Given the description of an element on the screen output the (x, y) to click on. 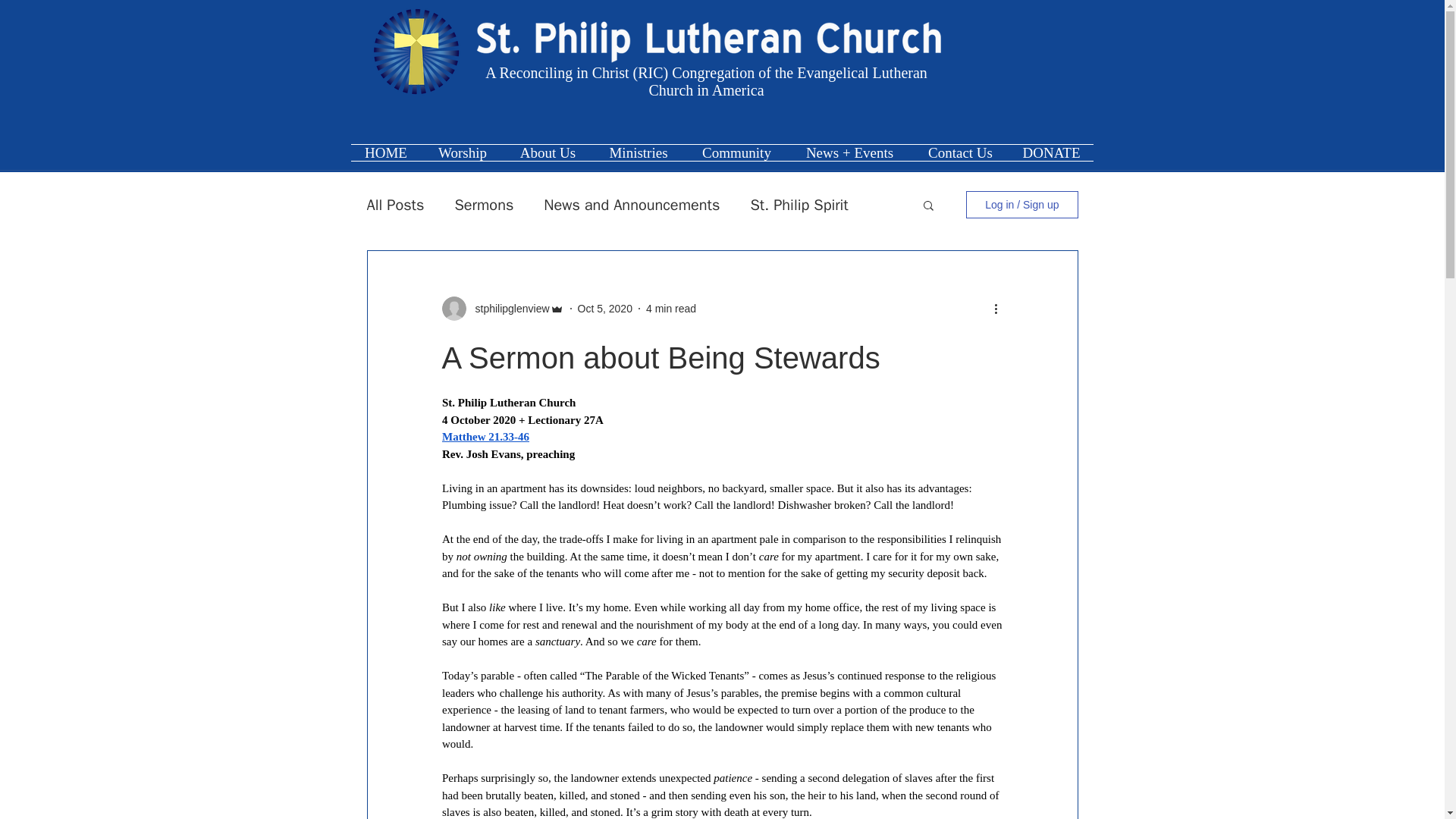
stphilipglenview (506, 308)
All Posts (395, 204)
St. Philip Spirit (798, 204)
HOME (385, 152)
St Philip Logo (735, 42)
DONATE (1051, 152)
Matthew 21.33-46 (484, 436)
News and Announcements (631, 204)
4 min read (670, 307)
Oct 5, 2020 (604, 307)
